Given the description of an element on the screen output the (x, y) to click on. 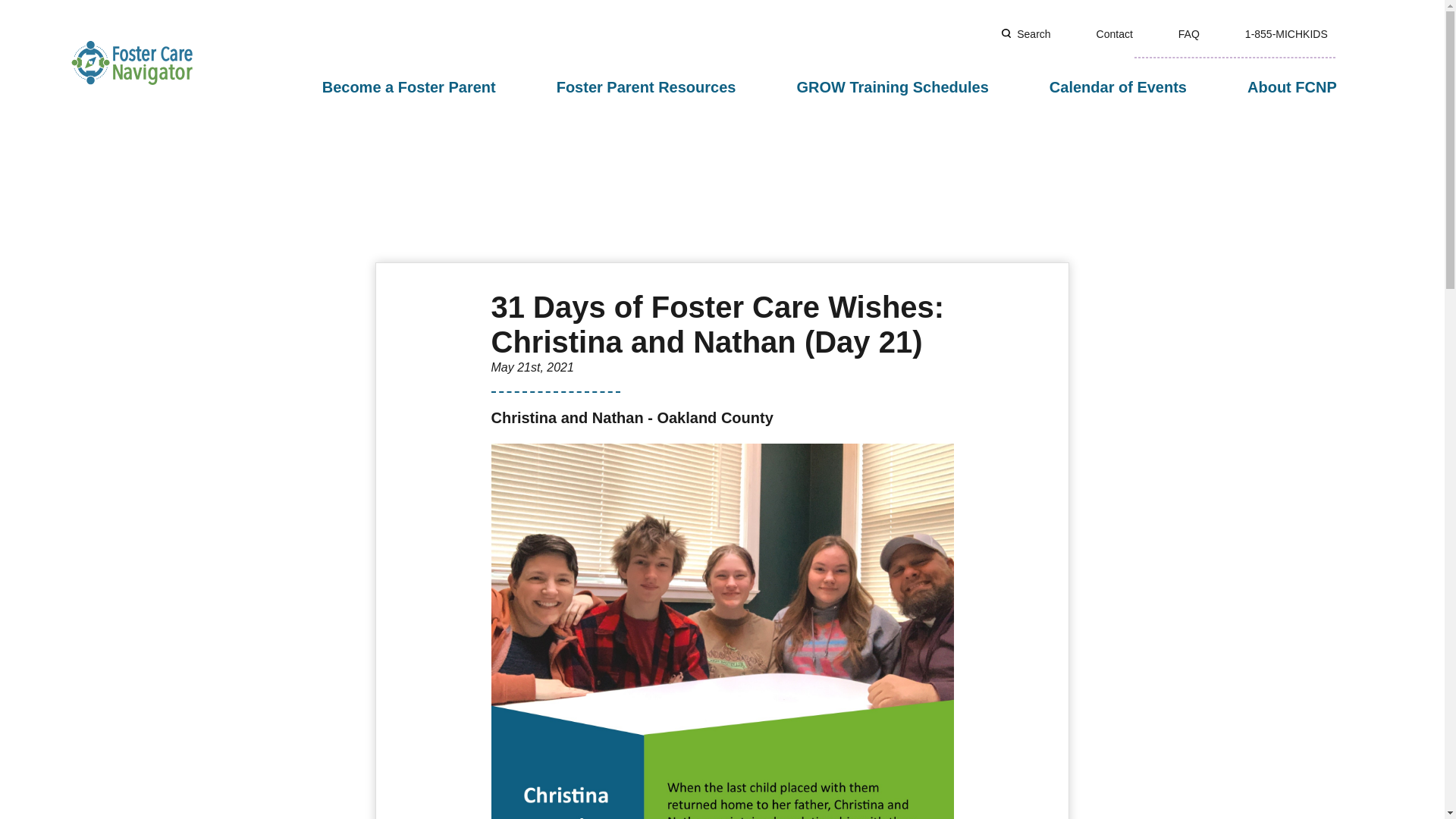
FAQ (1210, 33)
Calendar of Events (1124, 88)
Search (1056, 33)
About FCNP (1298, 88)
Become a Foster Parent (415, 88)
Contact (1136, 33)
GROW Training Schedules (898, 88)
1-855-MICHKIDS (1308, 33)
Foster Parent Resources (652, 88)
